Given the description of an element on the screen output the (x, y) to click on. 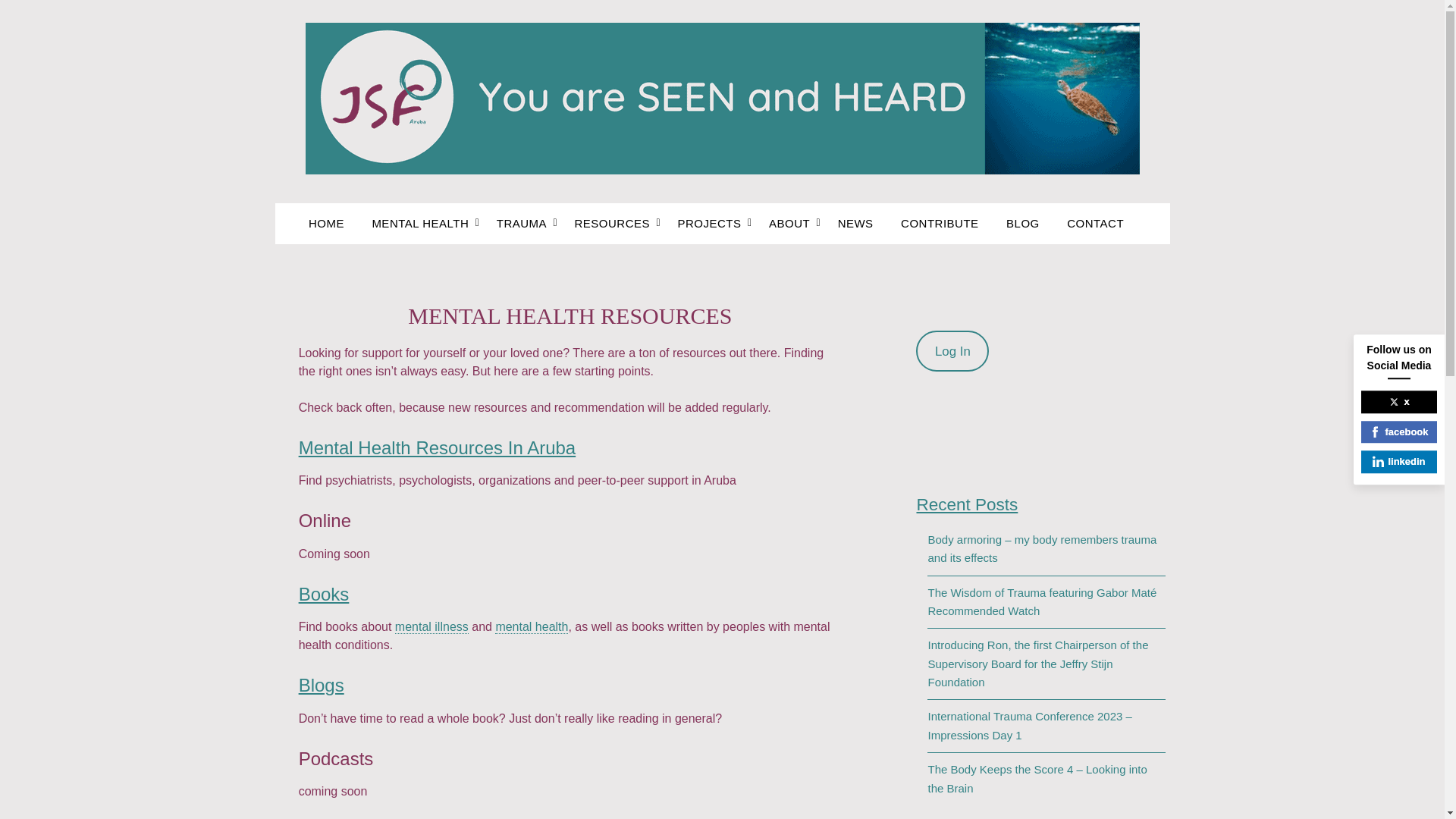
MENTAL HEALTH (419, 223)
TRAUMA (521, 223)
HOME (332, 223)
